Given the description of an element on the screen output the (x, y) to click on. 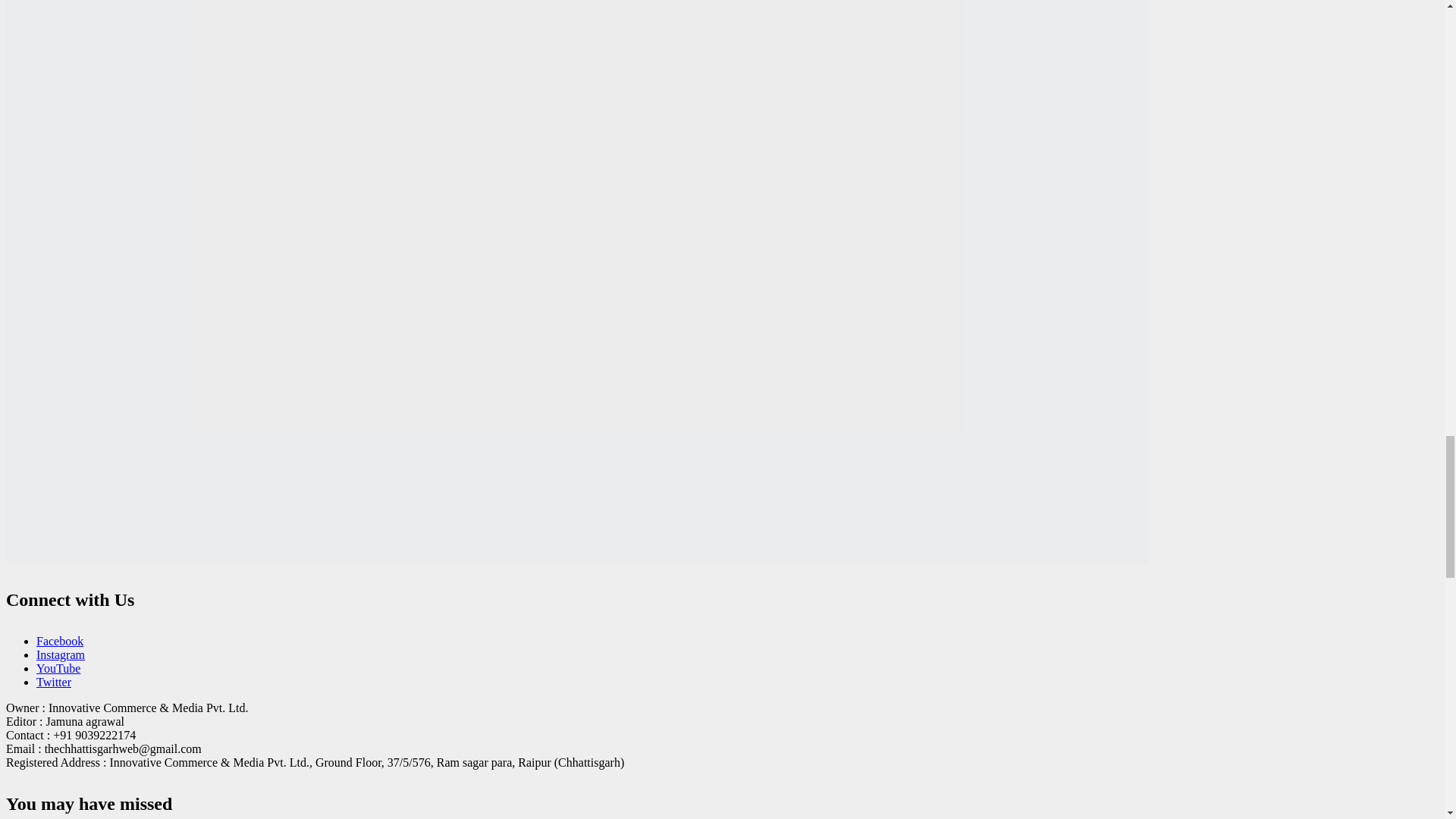
Facebook (59, 640)
Instagram (60, 654)
